Given the description of an element on the screen output the (x, y) to click on. 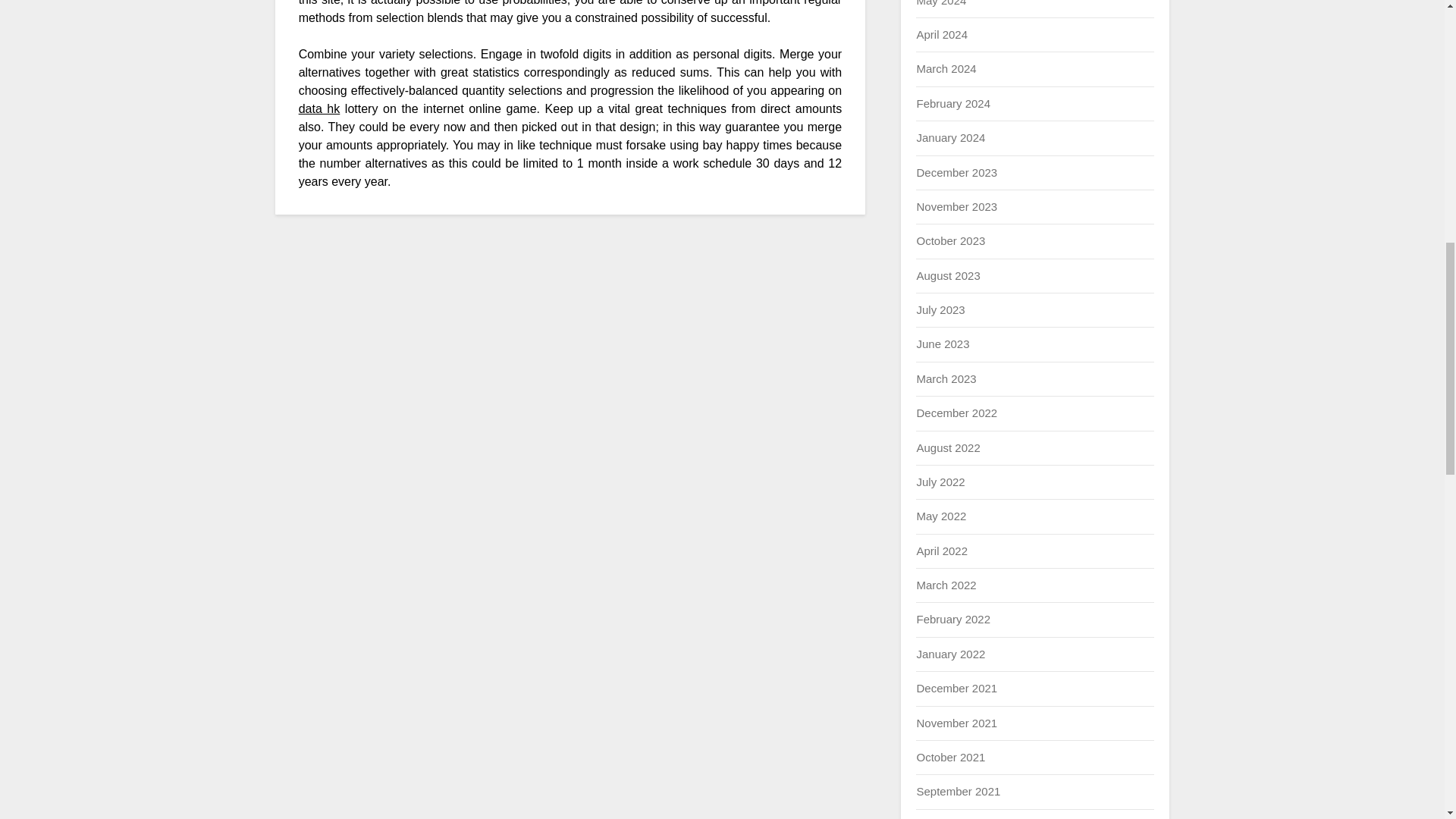
July 2023 (939, 309)
December 2022 (956, 412)
December 2023 (956, 172)
June 2023 (942, 343)
May 2022 (940, 515)
February 2022 (952, 618)
December 2021 (956, 687)
January 2022 (950, 653)
March 2024 (945, 68)
March 2022 (945, 584)
